Given the description of an element on the screen output the (x, y) to click on. 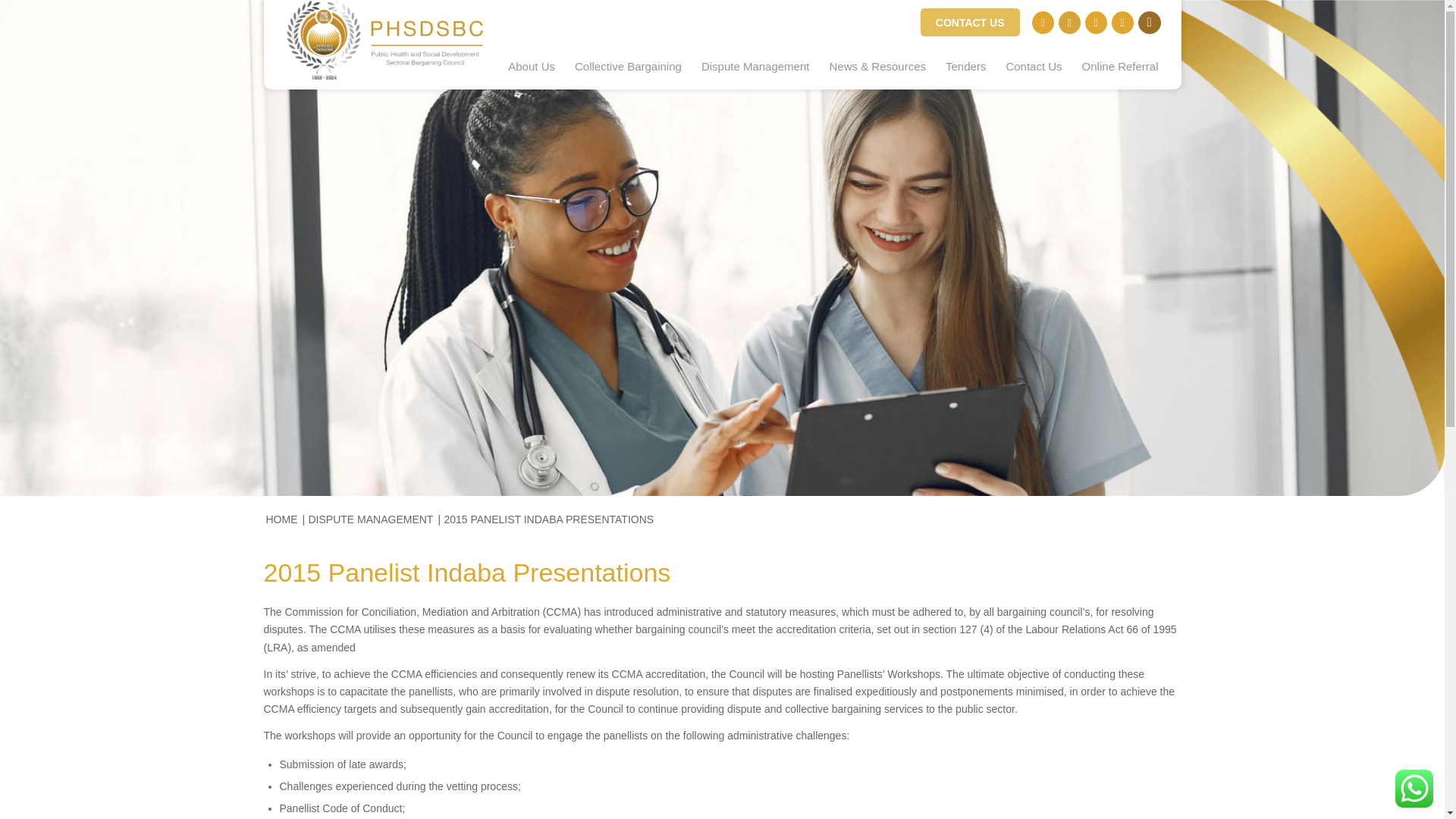
About Us (530, 66)
Twitter (1069, 22)
LinkedIn (1123, 22)
CONTACT US (970, 22)
PHSDSBC (281, 519)
Instagram (1095, 22)
Facebook (1041, 22)
Dispute Management (755, 66)
Collective Bargaining (627, 66)
